Given the description of an element on the screen output the (x, y) to click on. 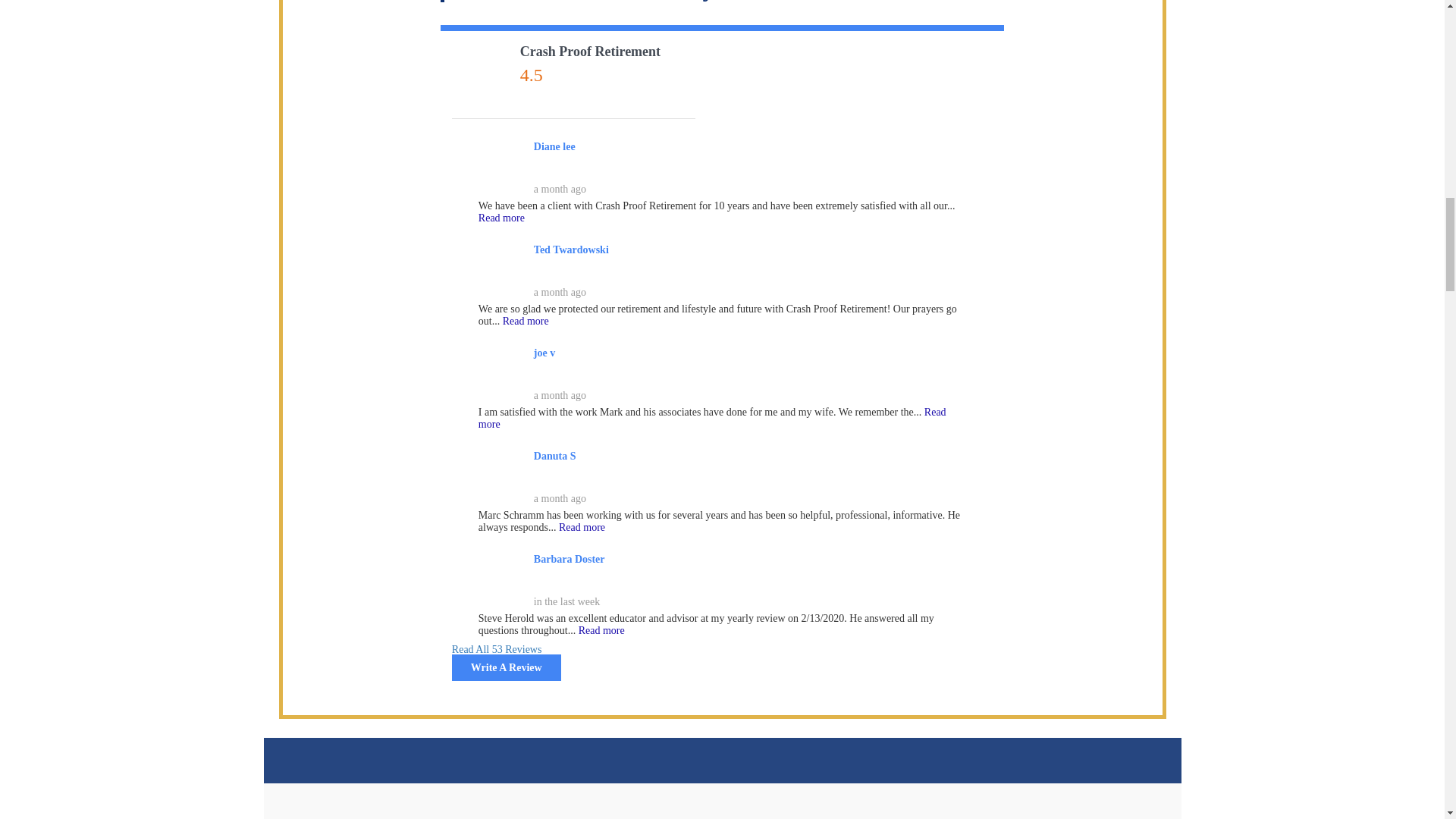
View this profile. (571, 249)
Barbara Doster (501, 575)
View this profile. (569, 559)
Ted Twardowski (501, 266)
View this profile. (555, 455)
View this profile. (554, 146)
Danuta S (501, 472)
Crash Proof Retirement (481, 72)
joe v (501, 369)
Diane lee (501, 162)
